Given the description of an element on the screen output the (x, y) to click on. 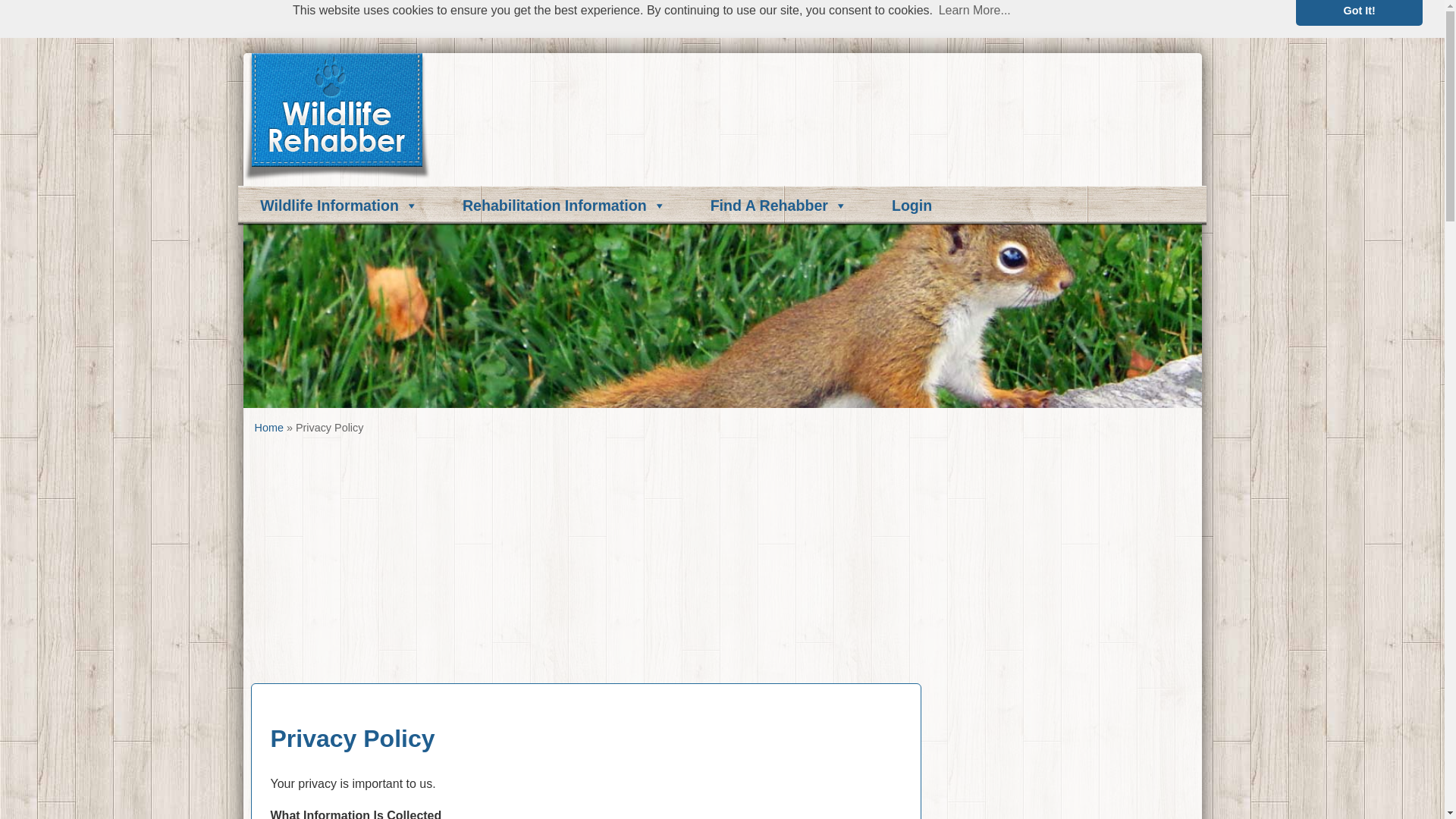
Advertisement (564, 565)
Got It! (1358, 12)
Find A Rehabber (778, 205)
Rehabilitation Information (563, 205)
Home (268, 427)
Wildlife Information (339, 205)
Login (912, 205)
Search (21, 7)
Learn More... (974, 11)
Privacy Policy (351, 738)
Search (885, 151)
